Given the description of an element on the screen output the (x, y) to click on. 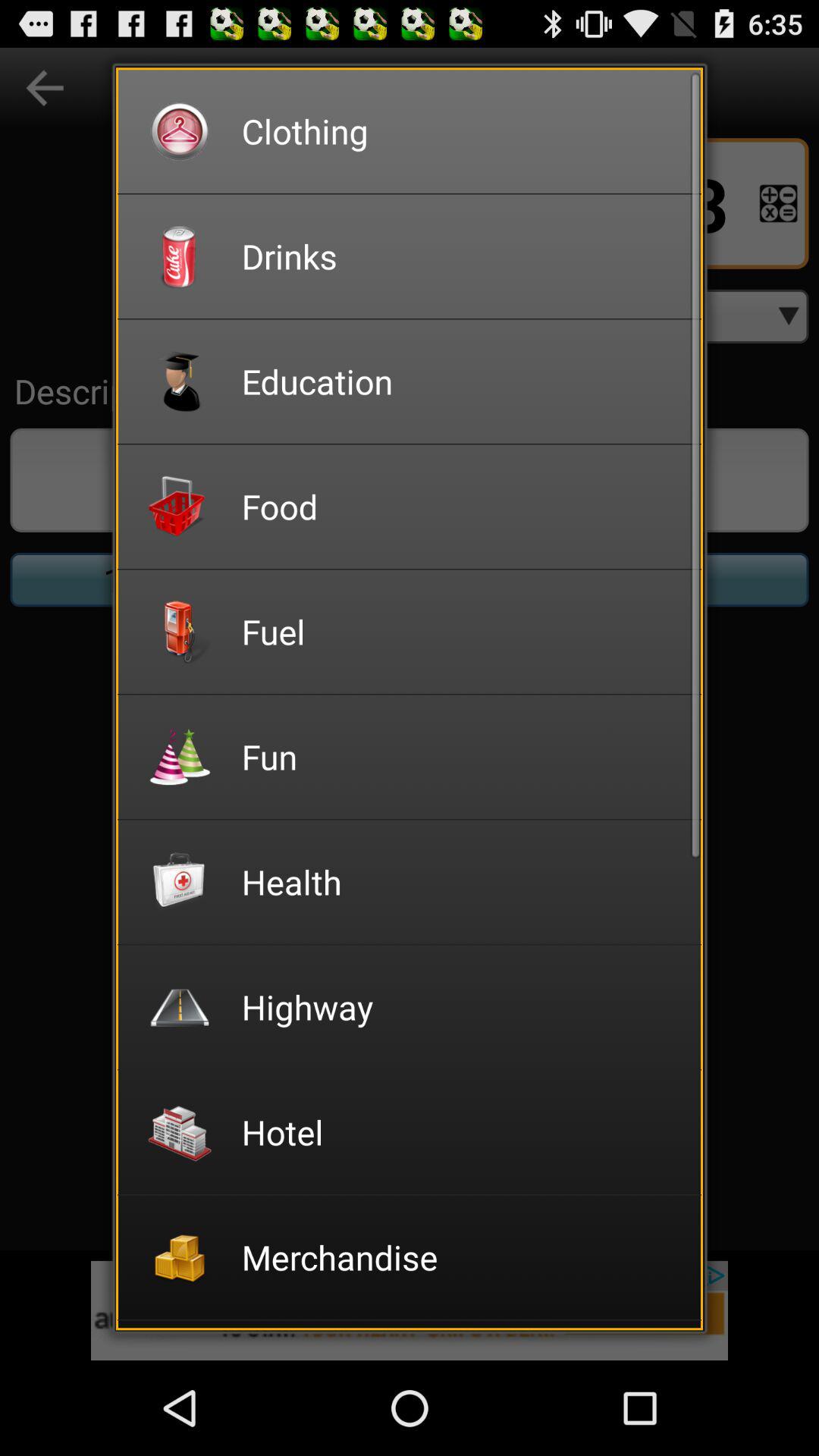
tap the app below the health item (461, 1006)
